Given the description of an element on the screen output the (x, y) to click on. 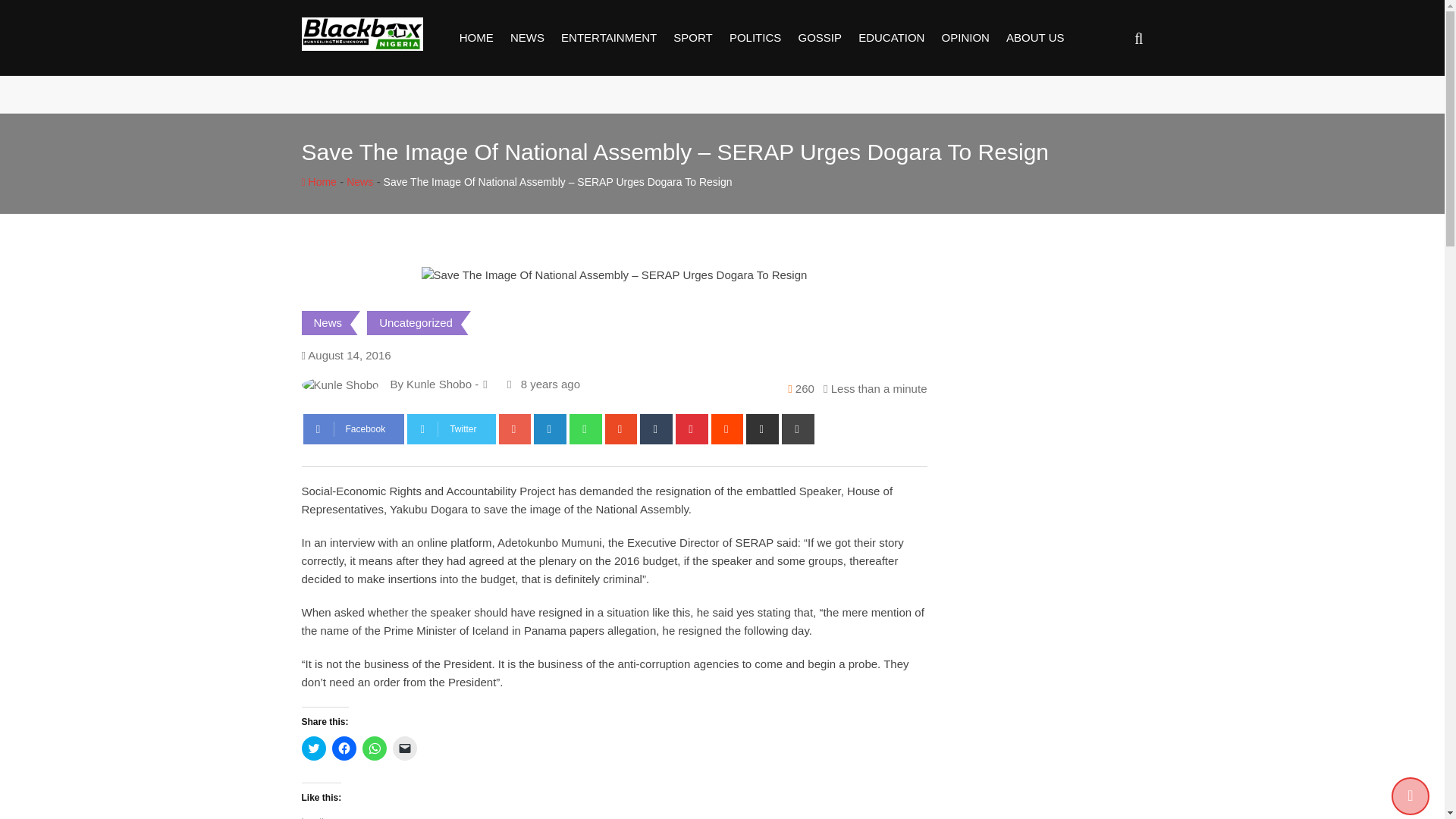
Click to share on WhatsApp (374, 748)
Click to email a link to a friend (404, 748)
Click to share on Twitter (313, 748)
ENTERTAINMENT (608, 38)
ABOUT US (1034, 38)
EDUCATION (891, 38)
Click to share on Facebook (343, 748)
